Given the description of an element on the screen output the (x, y) to click on. 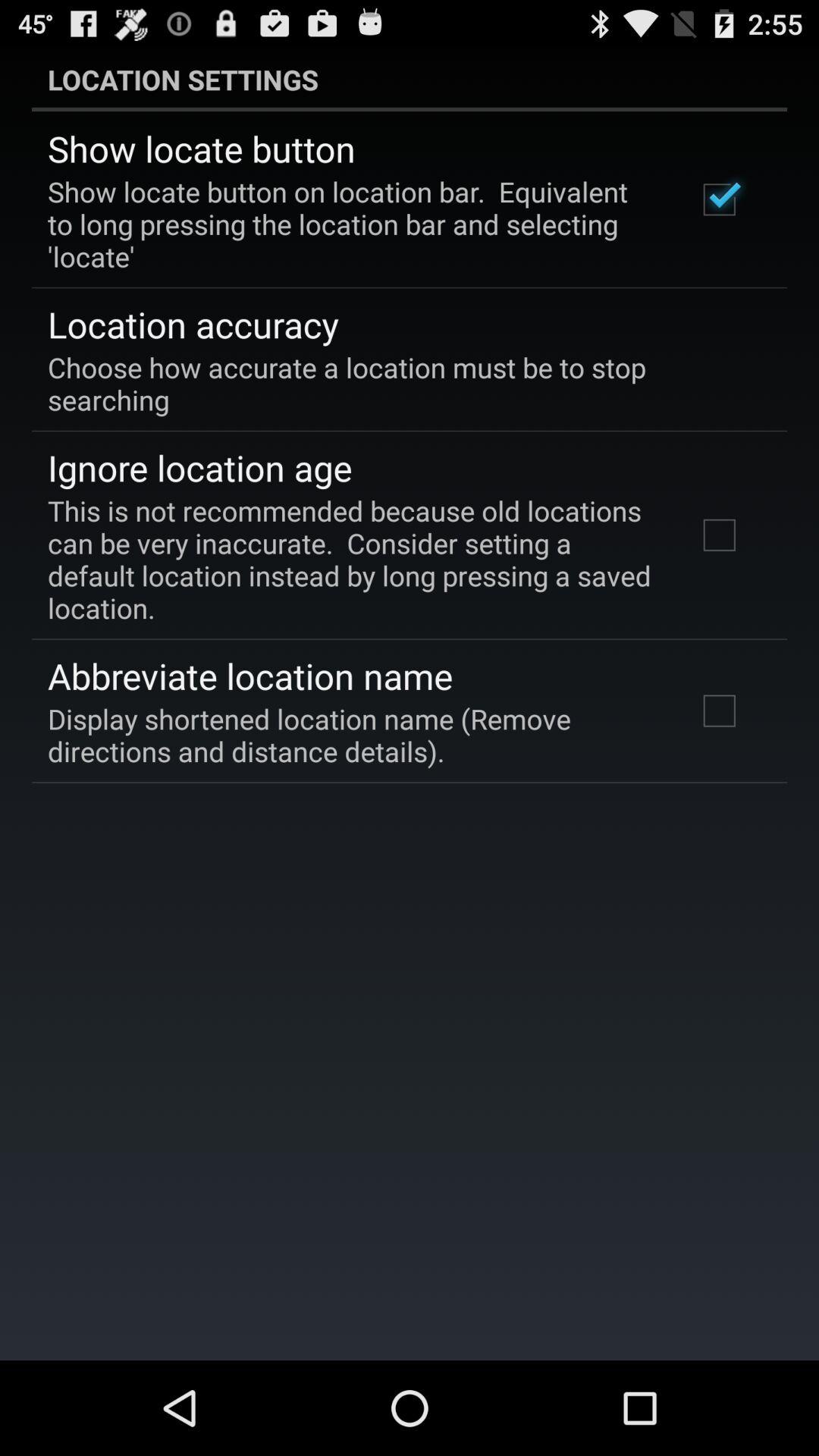
jump until the location accuracy (192, 324)
